Given the description of an element on the screen output the (x, y) to click on. 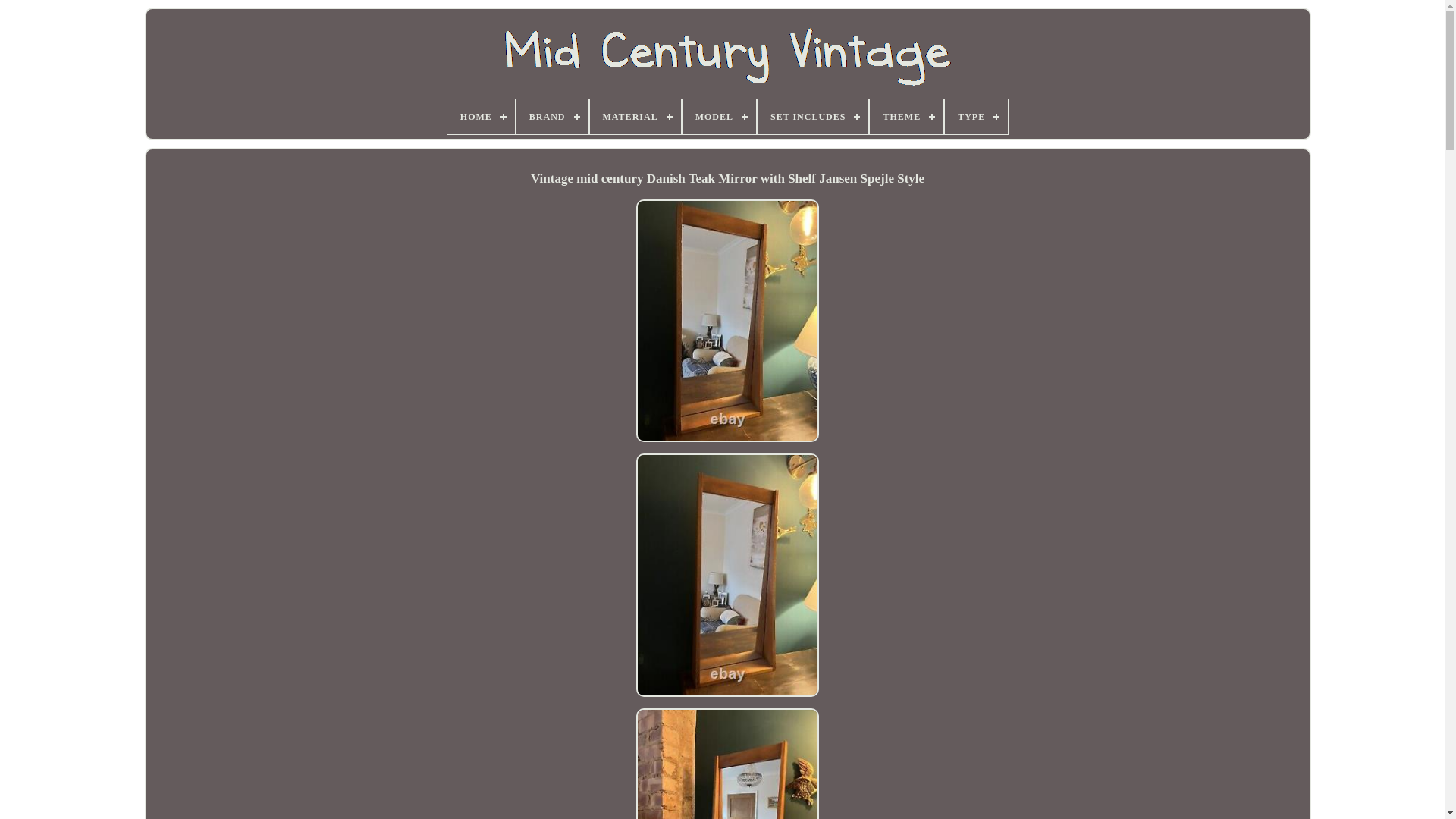
SET INCLUDES Element type: text (812, 116)
MATERIAL Element type: text (634, 116)
BRAND Element type: text (552, 116)
THEME Element type: text (906, 116)
MODEL Element type: text (719, 116)
TYPE Element type: text (975, 116)
HOME Element type: text (480, 116)
